Given the description of an element on the screen output the (x, y) to click on. 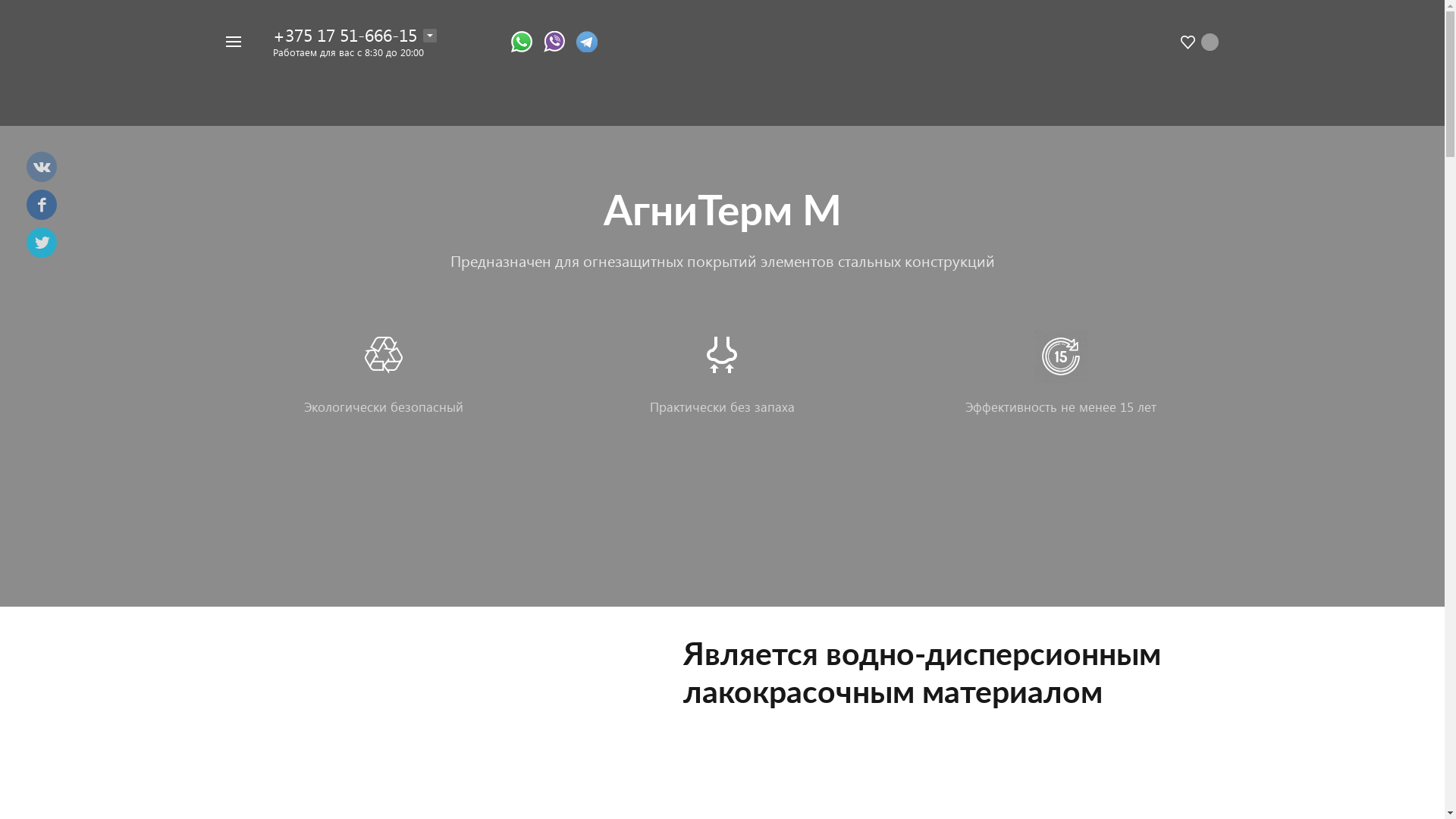
+375 17 51-666-15 Element type: text (345, 34)
